Given the description of an element on the screen output the (x, y) to click on. 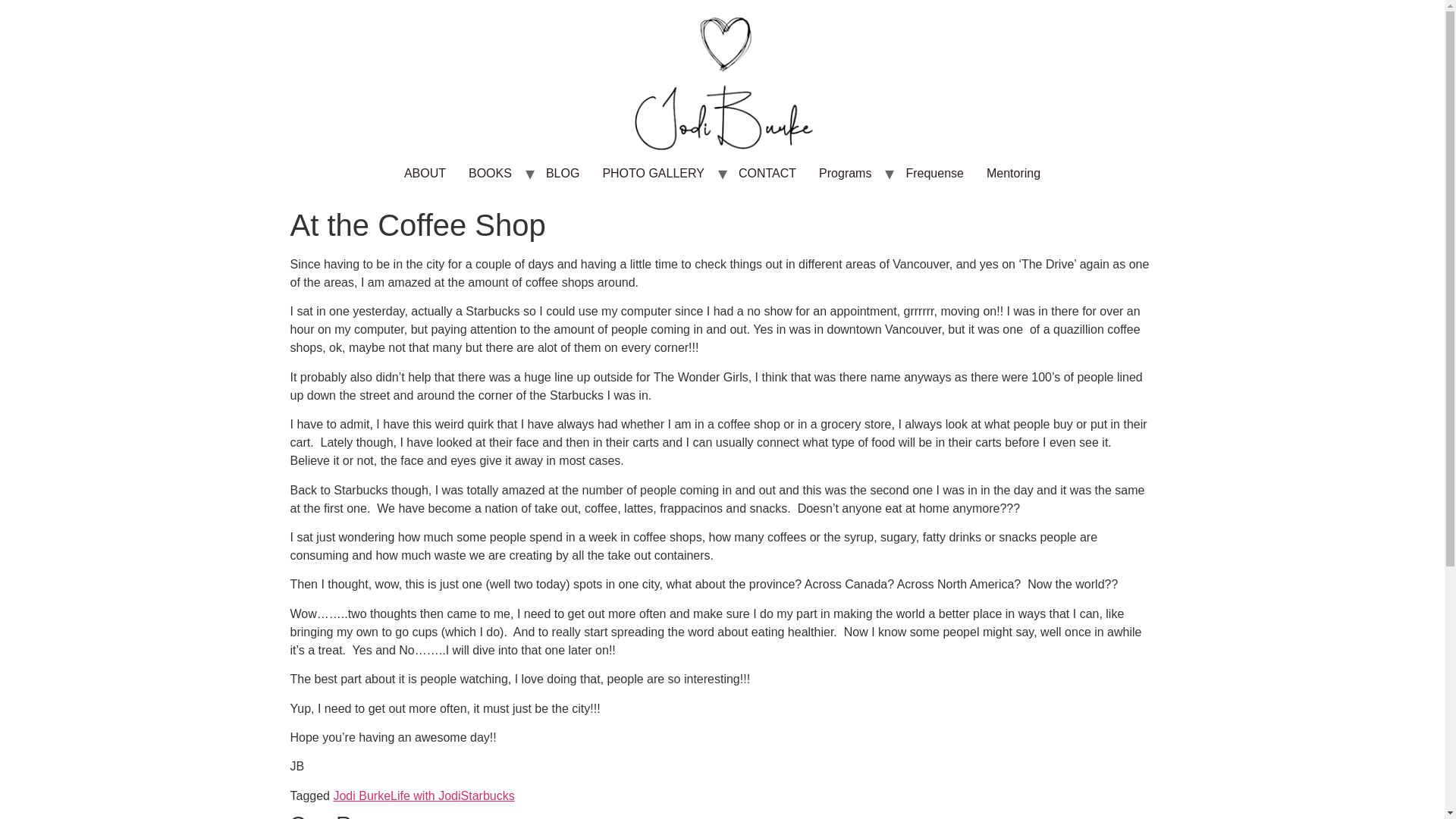
BOOKS (489, 173)
Frequense (934, 173)
PHOTO GALLERY (653, 173)
ABOUT (425, 173)
Jodi Burke (361, 795)
Mentoring (1013, 173)
CONTACT (767, 173)
BLOG (562, 173)
Life with Jodi (425, 795)
Starbucks (488, 795)
Programs (845, 173)
